Given the description of an element on the screen output the (x, y) to click on. 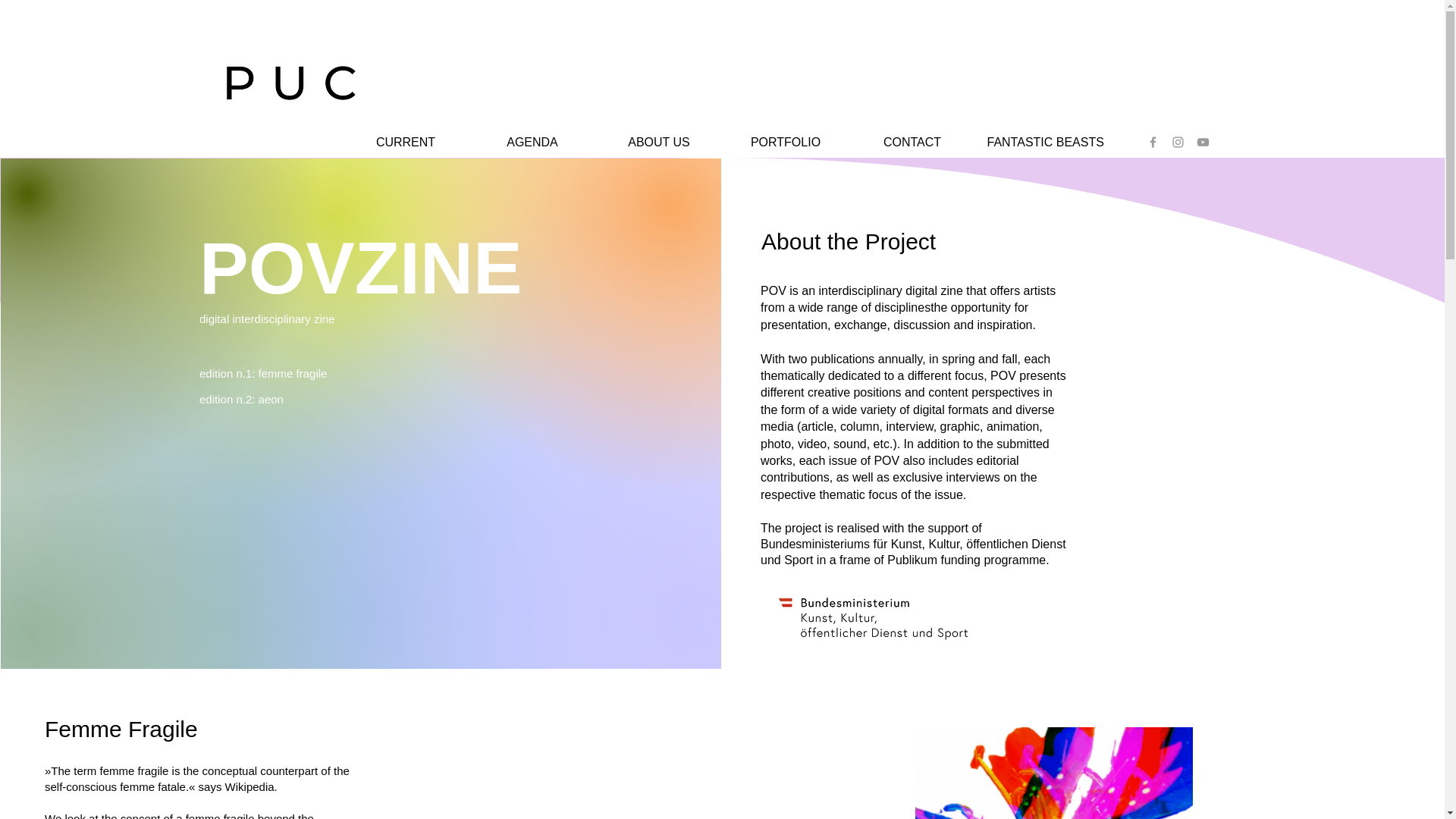
CONTACT (911, 142)
AGENDA (531, 142)
PORTFOLIO (785, 142)
FANTASTIC BEASTS (1038, 142)
CURRENT (405, 142)
ABOUT US (658, 142)
